Given the description of an element on the screen output the (x, y) to click on. 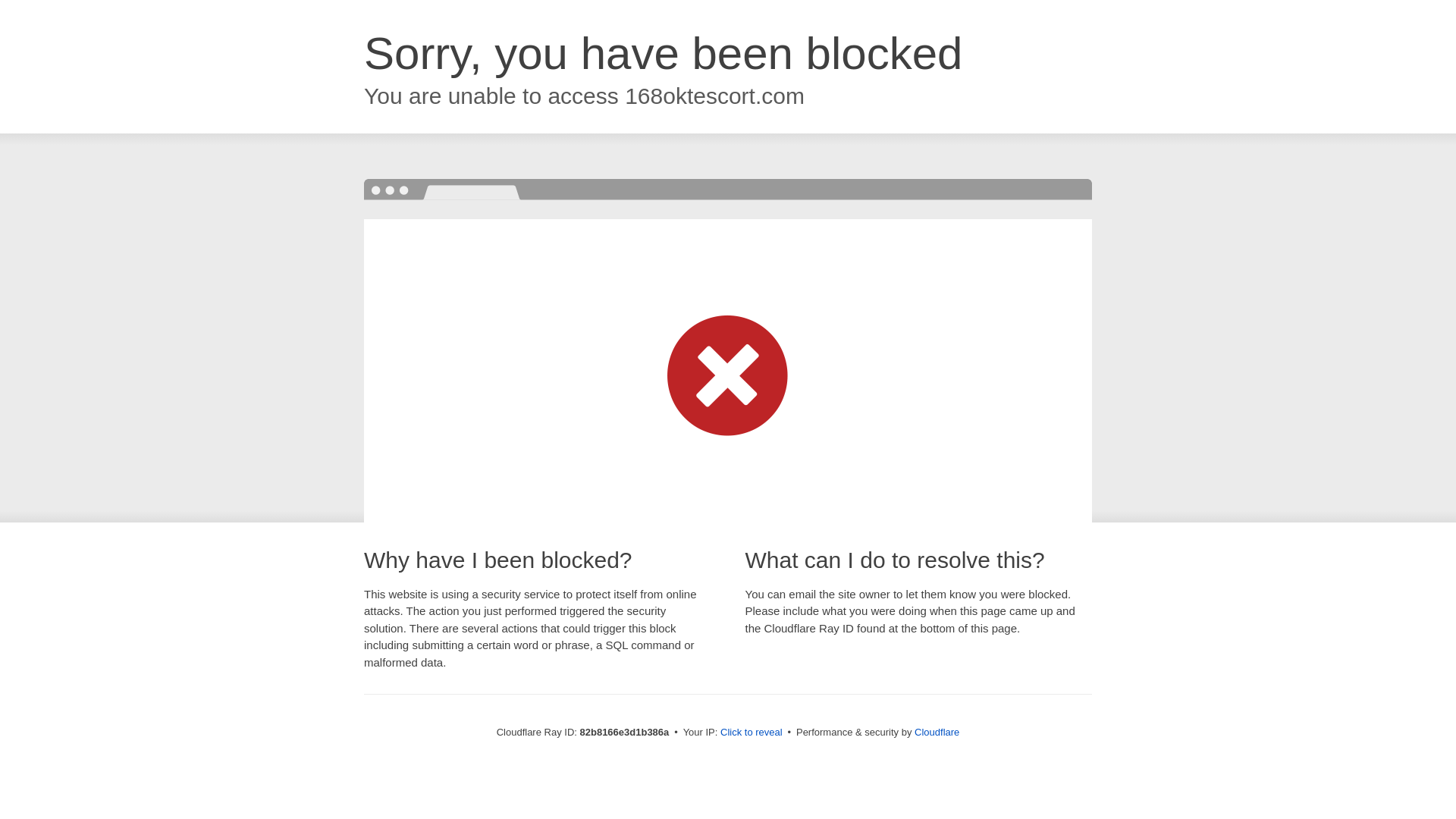
Cloudflare Element type: text (936, 731)
Click to reveal Element type: text (751, 732)
